Given the description of an element on the screen output the (x, y) to click on. 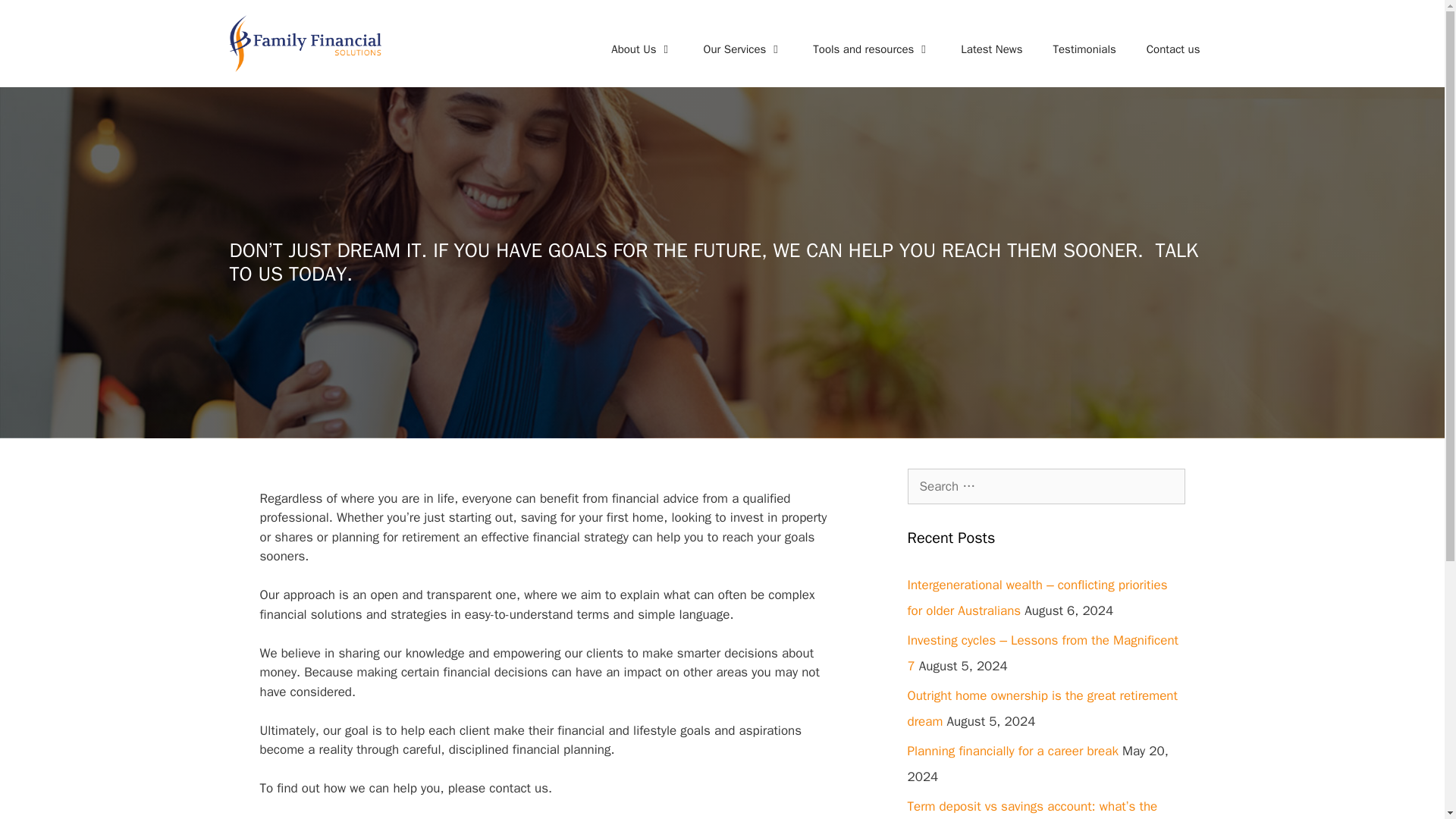
Contact us (1173, 49)
Search for: (1046, 486)
Search (35, 18)
Planning financially for a career break (1012, 750)
Outright home ownership is the great retirement dream (1041, 708)
About Us (641, 49)
Latest News (990, 49)
Our Services (742, 49)
Testimonials (1084, 49)
Tools and resources (870, 49)
